Given the description of an element on the screen output the (x, y) to click on. 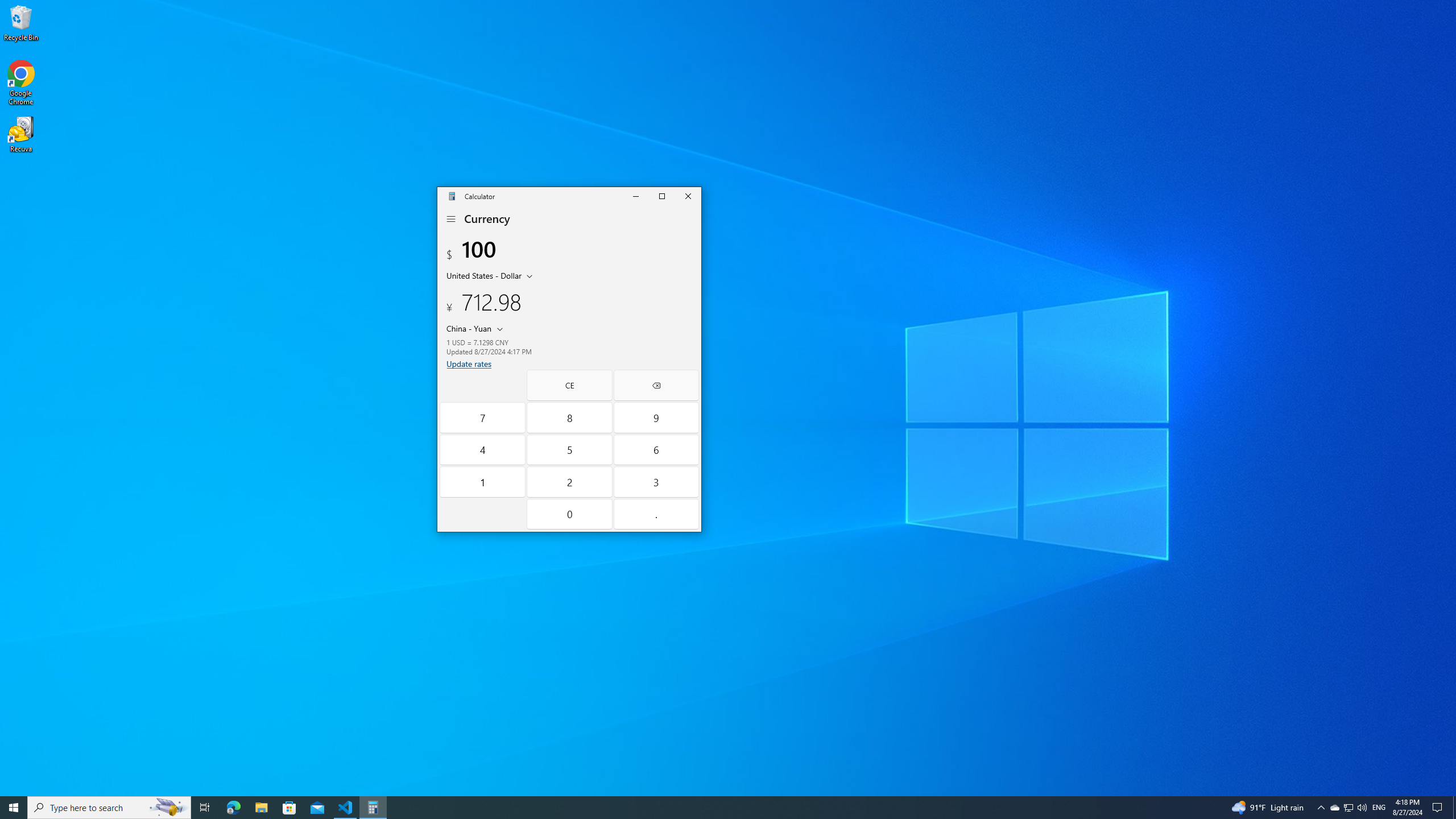
Two (569, 481)
File Explorer (261, 807)
Six (655, 449)
Type here to search (108, 807)
Notification Chevron (1320, 807)
Calculator - 1 running window (373, 807)
Close Calculator (688, 195)
Zero (569, 513)
Running applications (706, 807)
Input unit (492, 275)
Show desktop (1454, 807)
Microsoft Edge (233, 807)
Backspace (655, 385)
